Given the description of an element on the screen output the (x, y) to click on. 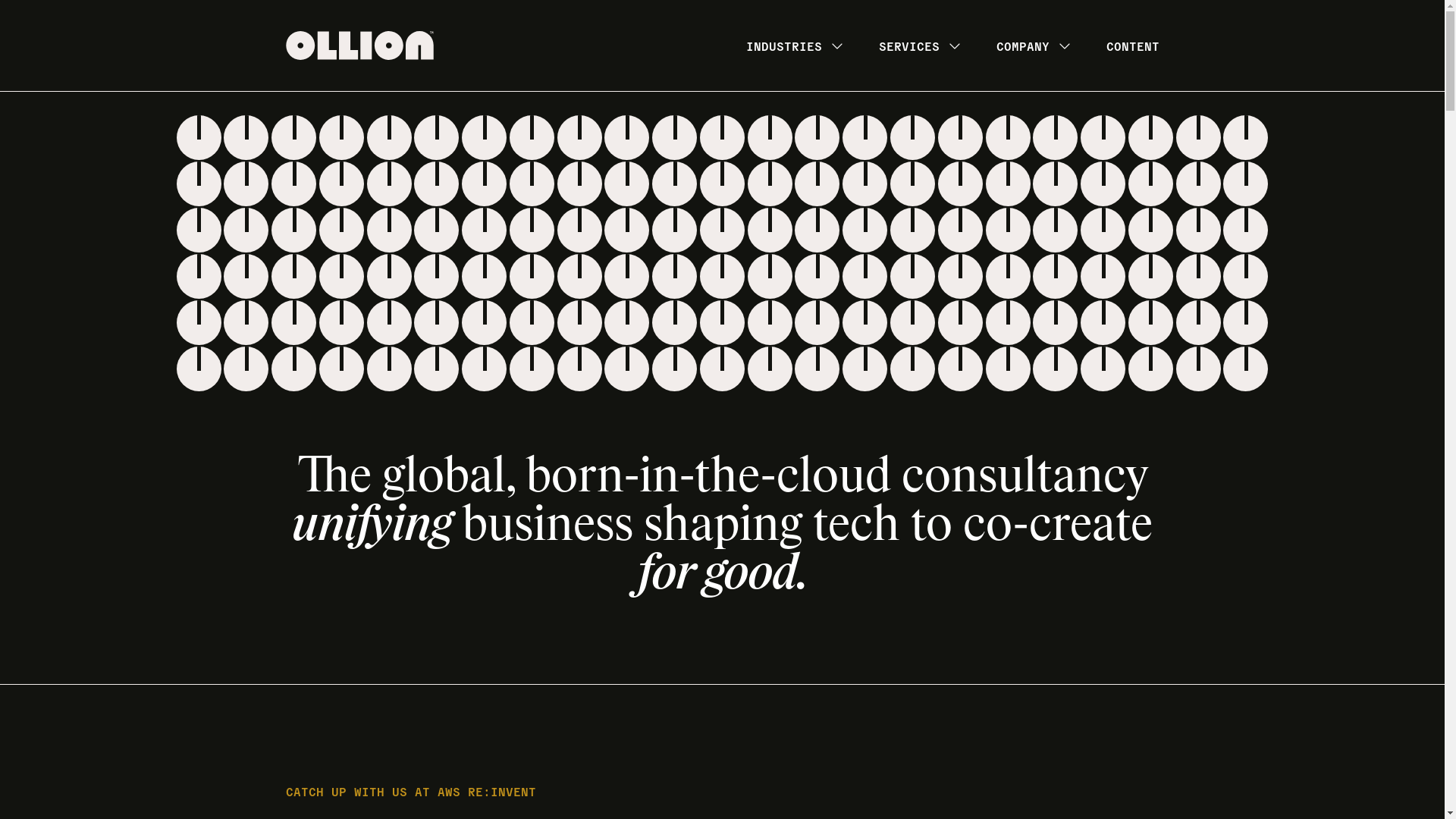
CONTENT Element type: text (1131, 45)
